Given the description of an element on the screen output the (x, y) to click on. 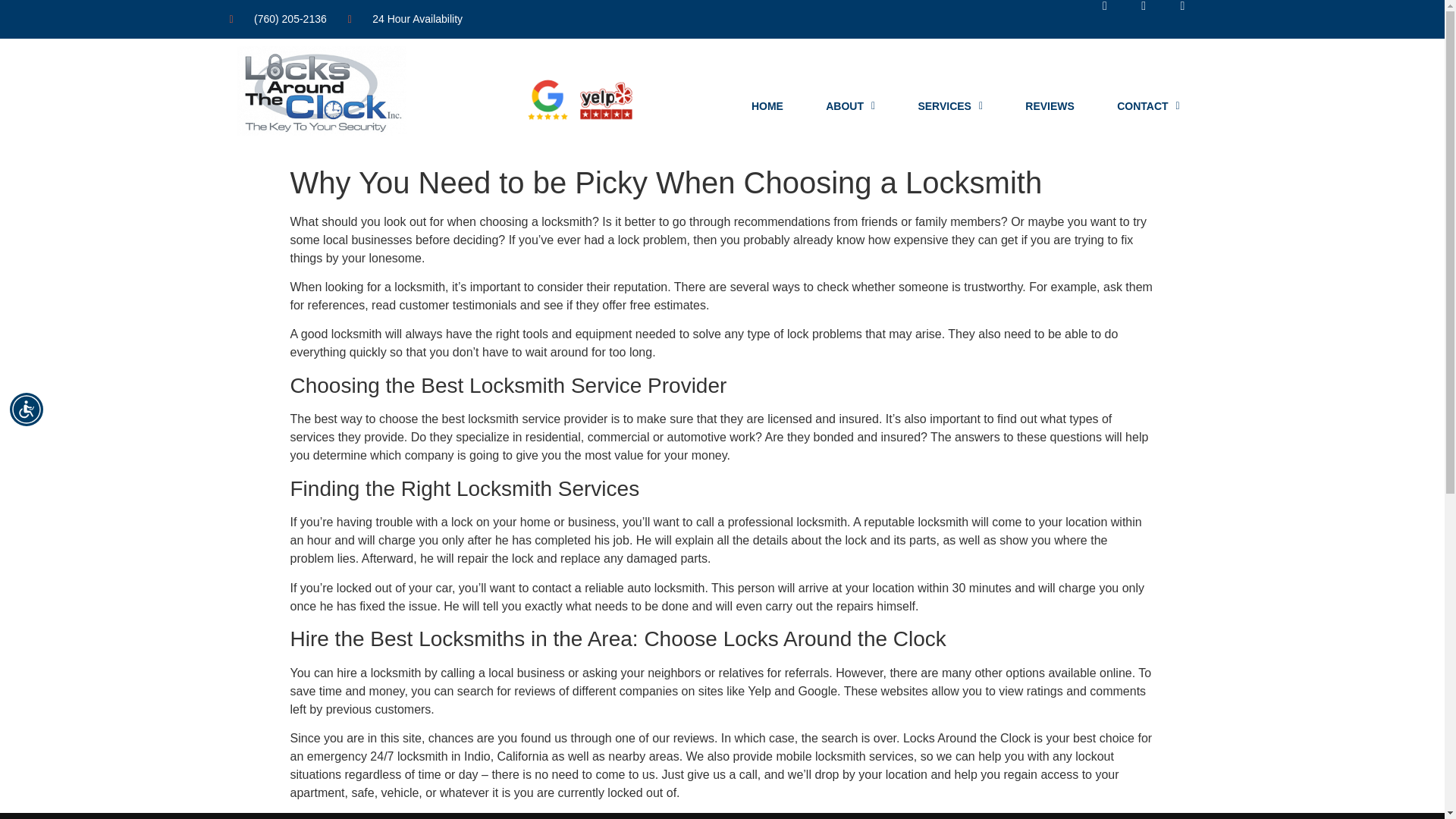
Accessibility Menu (26, 409)
SERVICES (950, 105)
HOME (767, 105)
ABOUT (850, 105)
